Given the description of an element on the screen output the (x, y) to click on. 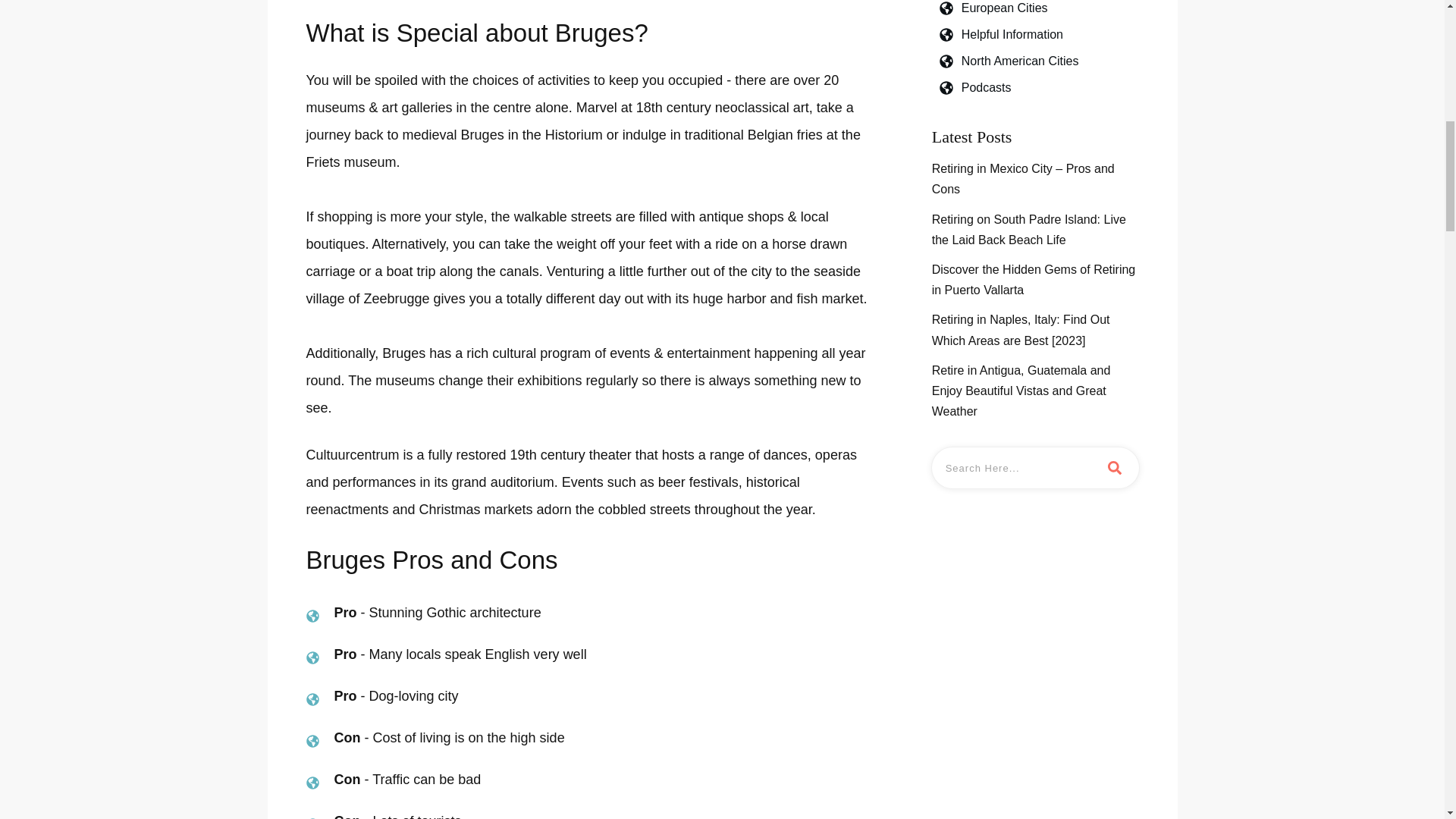
Discover the Hidden Gems of Retiring in Puerto Vallarta (1034, 279)
Podcasts (985, 86)
European Cities (1004, 9)
Helpful Information (1011, 34)
North American Cities (1019, 60)
